Given the description of an element on the screen output the (x, y) to click on. 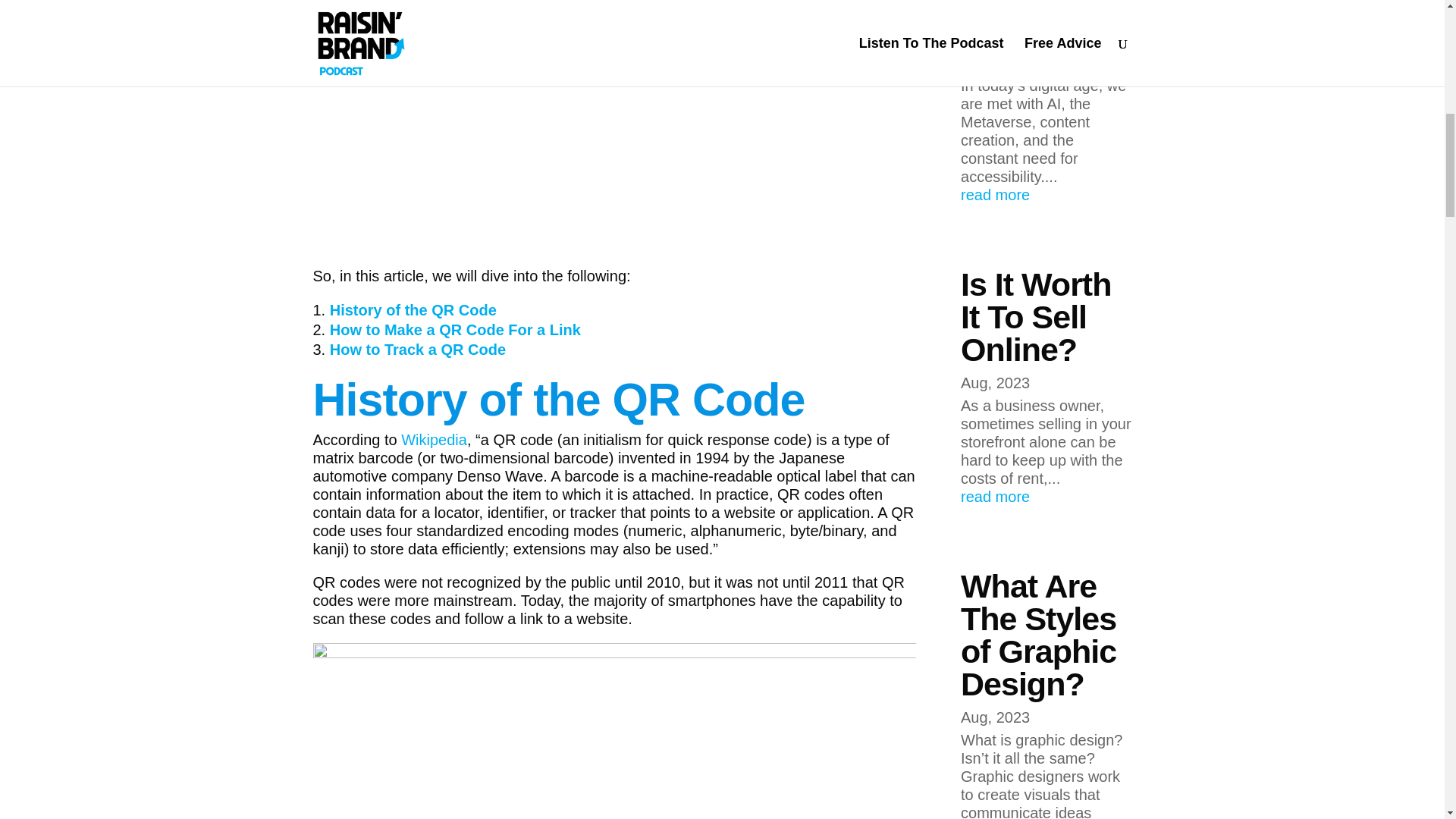
read more (1045, 194)
Is It Worth It To Sell Online? (1035, 316)
Wikipedia (434, 439)
History of the QR Code (413, 310)
How to Track a QR Code (417, 349)
How to Make a QR Code For a Link (455, 329)
What Are The Styles of Graphic Design? (1038, 634)
read more (1045, 496)
